Given the description of an element on the screen output the (x, y) to click on. 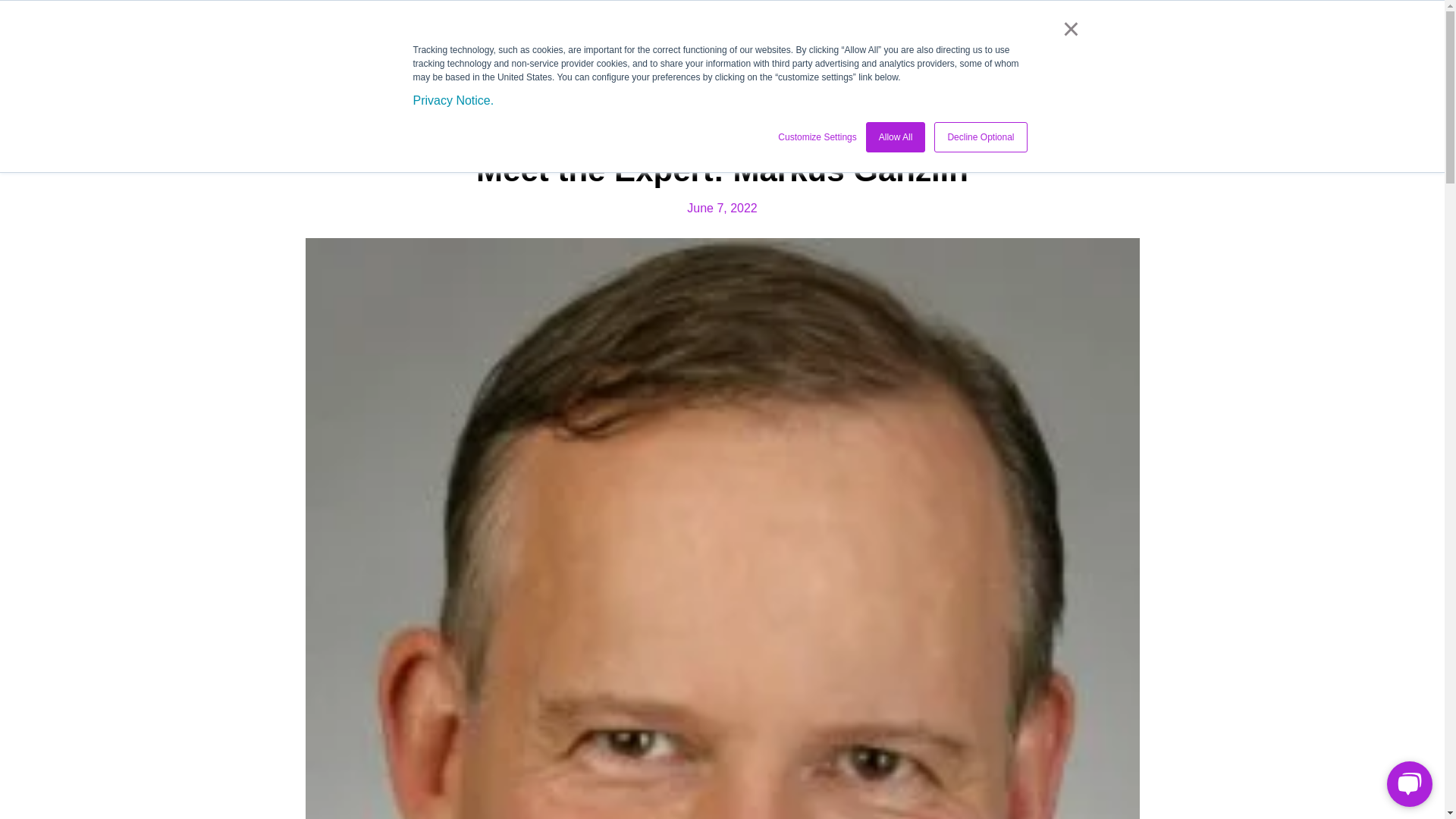
Decline Optional (980, 137)
Allow All (896, 137)
RCO Solutions (583, 33)
Chat Widget (1406, 782)
Privacy Notice. (452, 100)
Customize Settings (816, 137)
About ProPharma (473, 33)
